Given the description of an element on the screen output the (x, y) to click on. 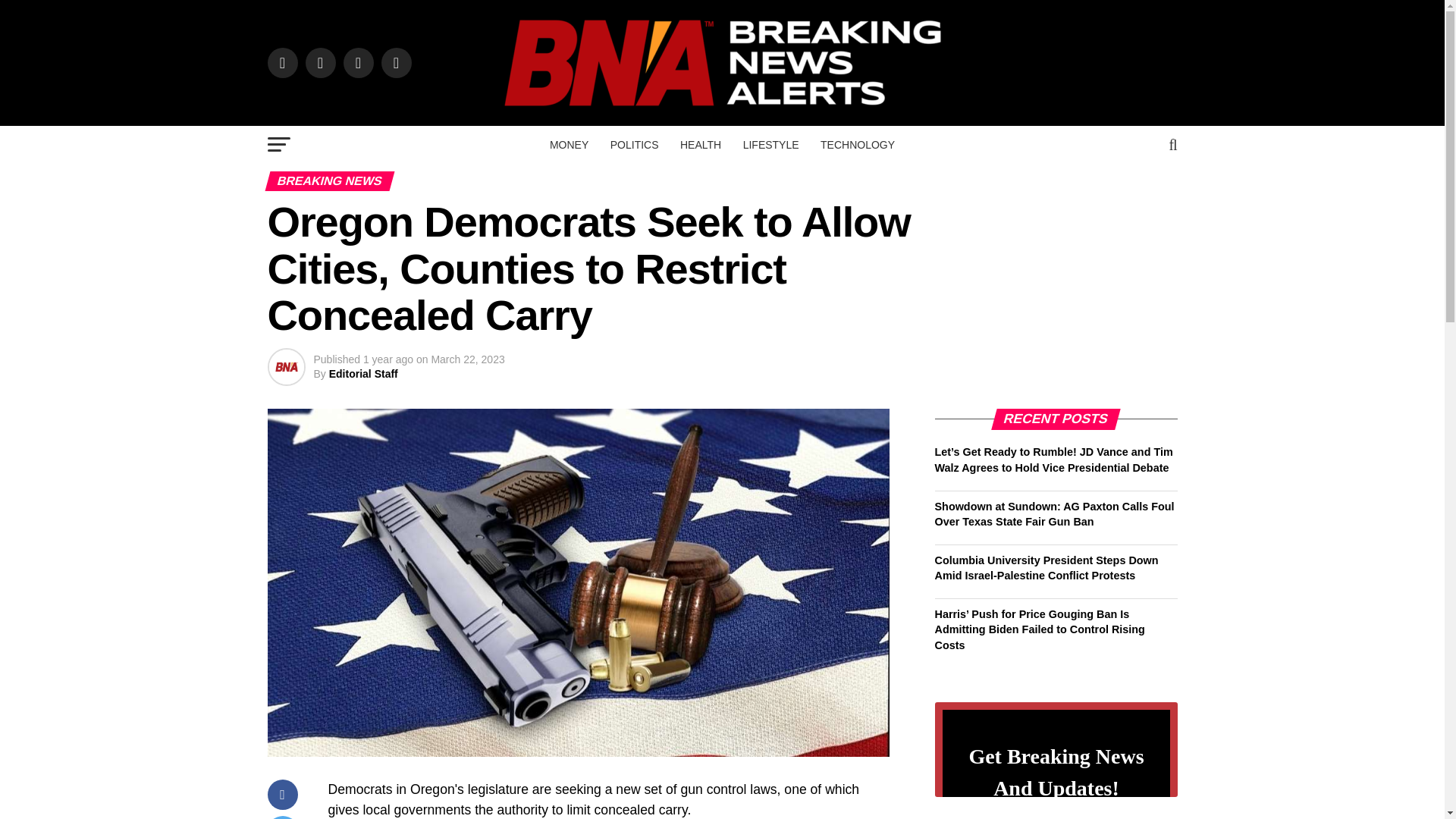
LIFESTYLE (770, 144)
Posts by Editorial Staff (363, 373)
POLITICS (634, 144)
TECHNOLOGY (857, 144)
HEALTH (700, 144)
Editorial Staff (363, 373)
Site Newsletter (1055, 739)
MONEY (568, 144)
